Given the description of an element on the screen output the (x, y) to click on. 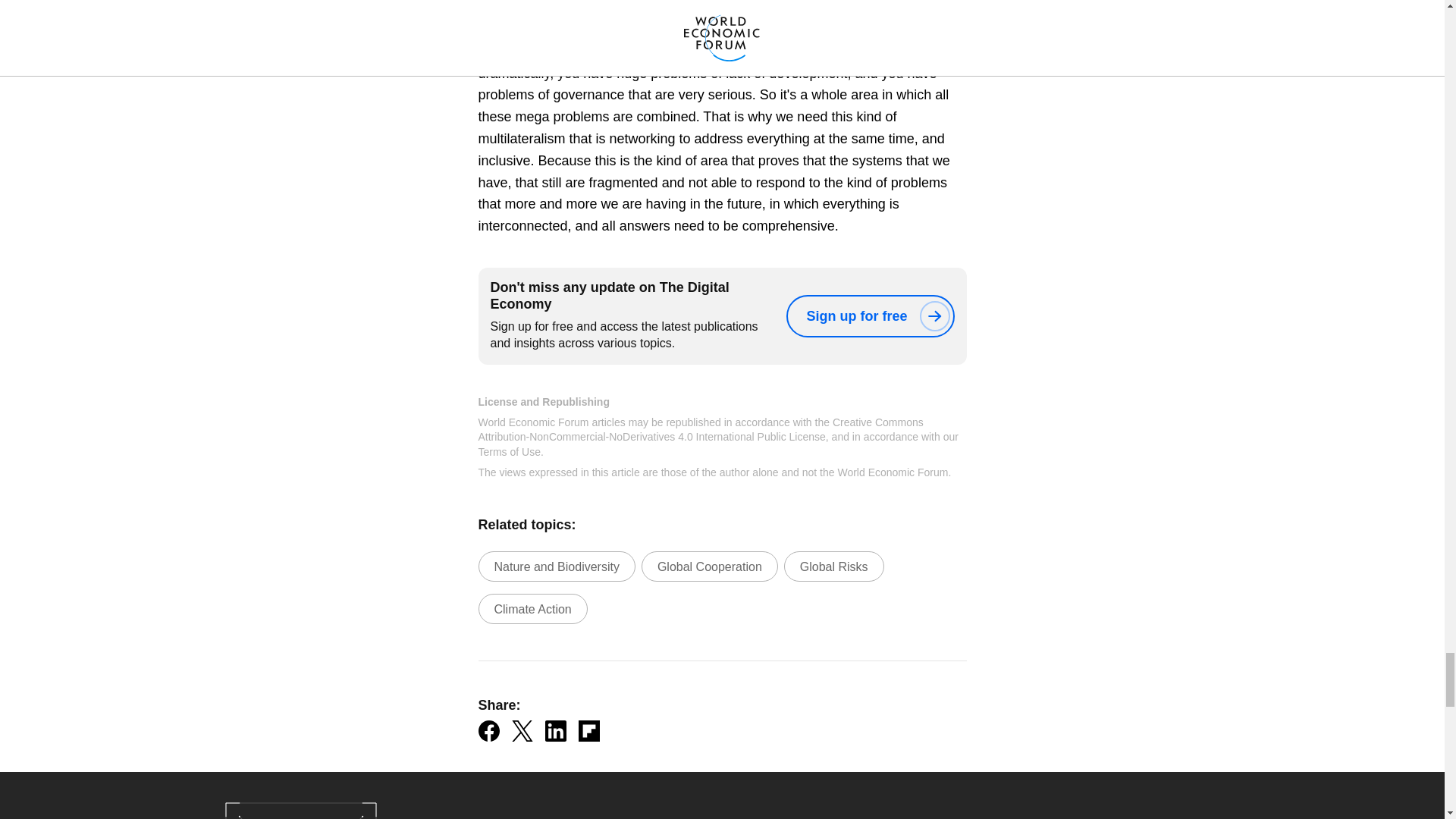
Global Risks (833, 566)
Climate Action (531, 608)
Global Cooperation (709, 566)
Nature and Biodiversity (555, 566)
Sign up for free (869, 315)
